Given the description of an element on the screen output the (x, y) to click on. 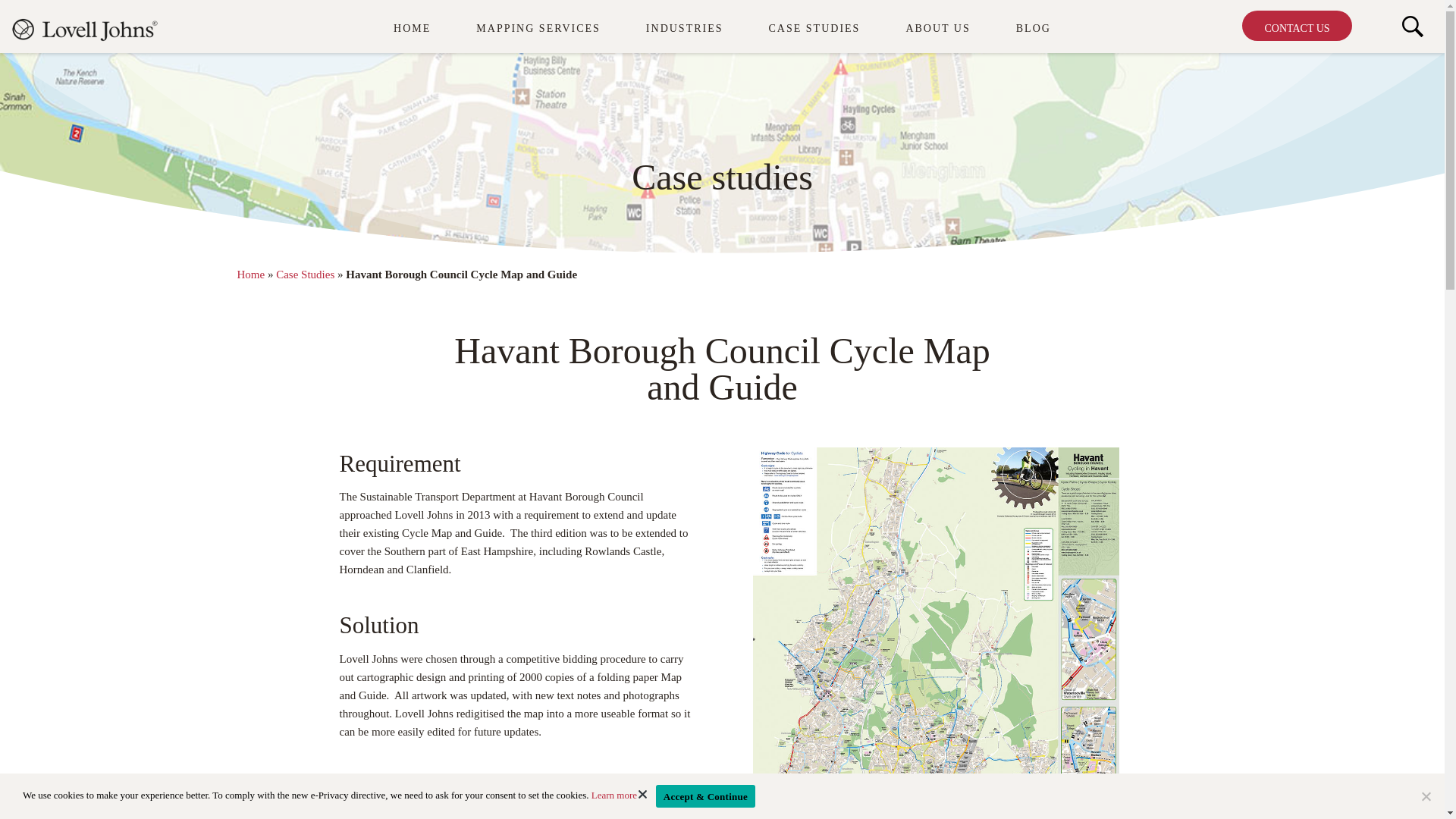
CASE STUDIES (814, 28)
INDUSTRIES (684, 28)
No (1425, 795)
ABOUT US (937, 28)
MAPPING SERVICES (537, 28)
